Given the description of an element on the screen output the (x, y) to click on. 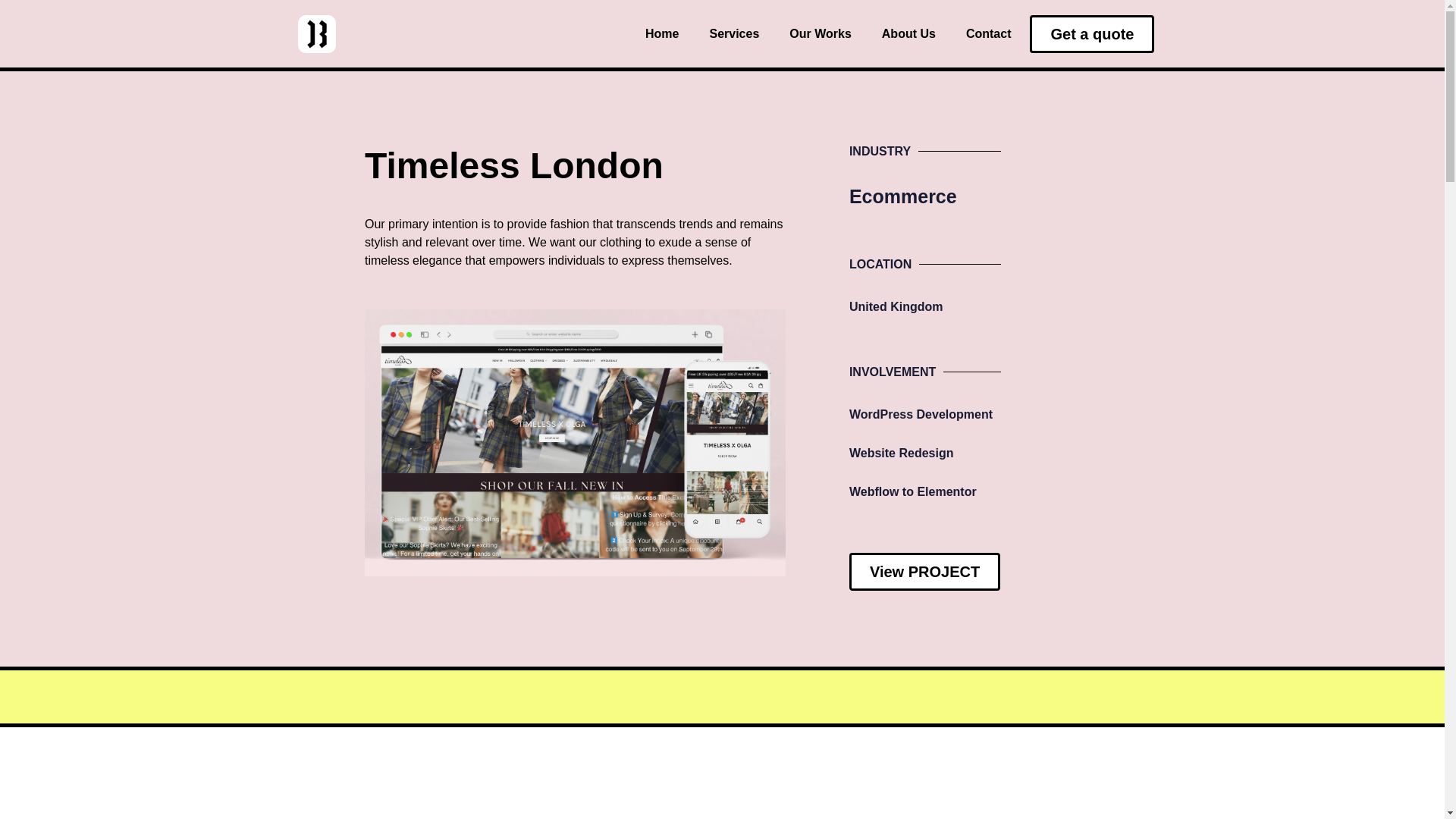
Contact (989, 33)
Our Works (820, 33)
Home (661, 33)
About Us (908, 33)
Get a quote (1091, 34)
Services (733, 33)
View PROJECT (924, 571)
